Given the description of an element on the screen output the (x, y) to click on. 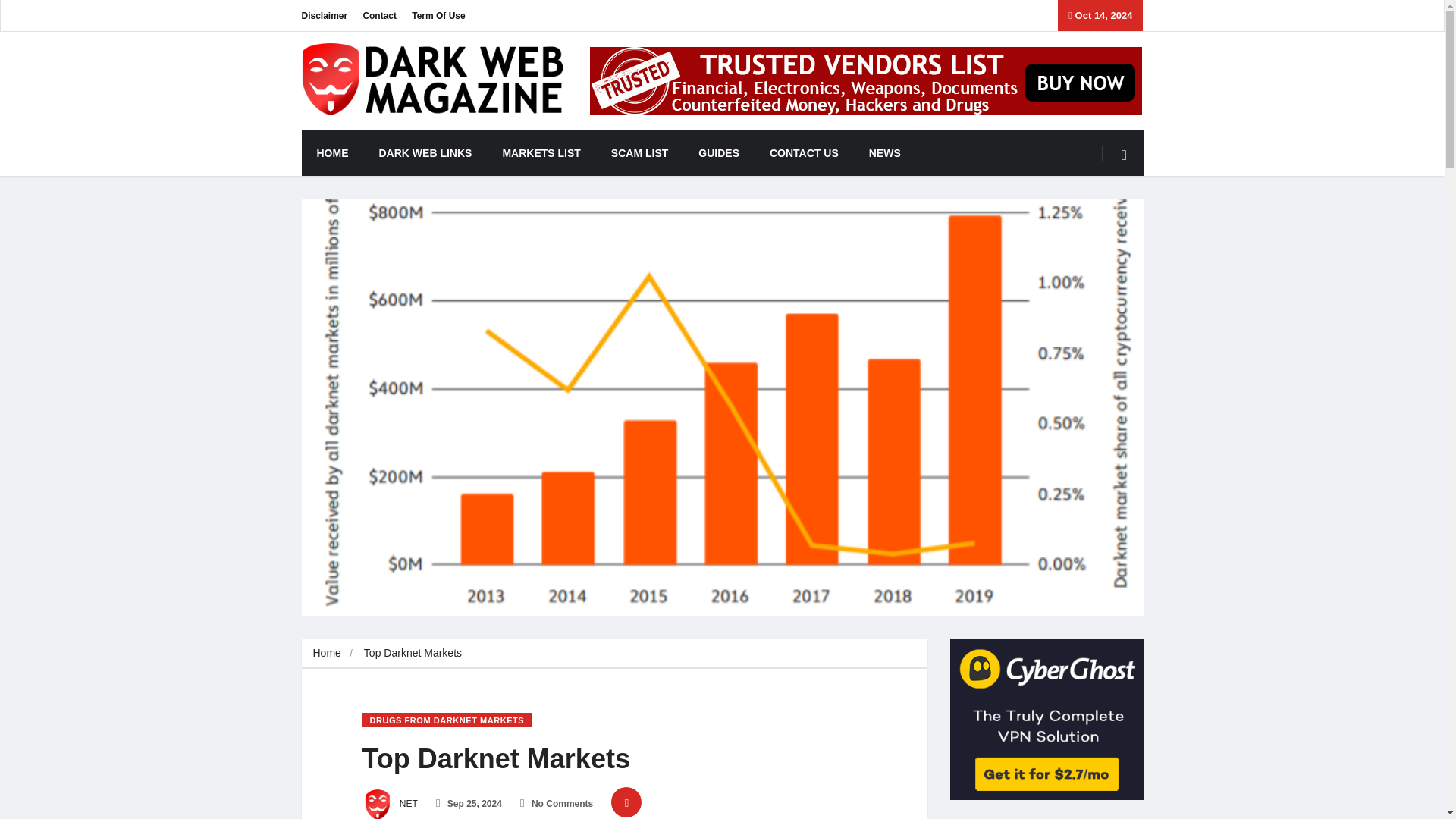
MARKETS LIST (540, 153)
DARK WEB LINKS (425, 153)
GUIDES (718, 153)
Home (326, 653)
Contact (379, 15)
Term Of Use (438, 15)
NEWS (884, 153)
NET (389, 803)
CONTACT US (803, 153)
SCAM LIST (638, 153)
